Given the description of an element on the screen output the (x, y) to click on. 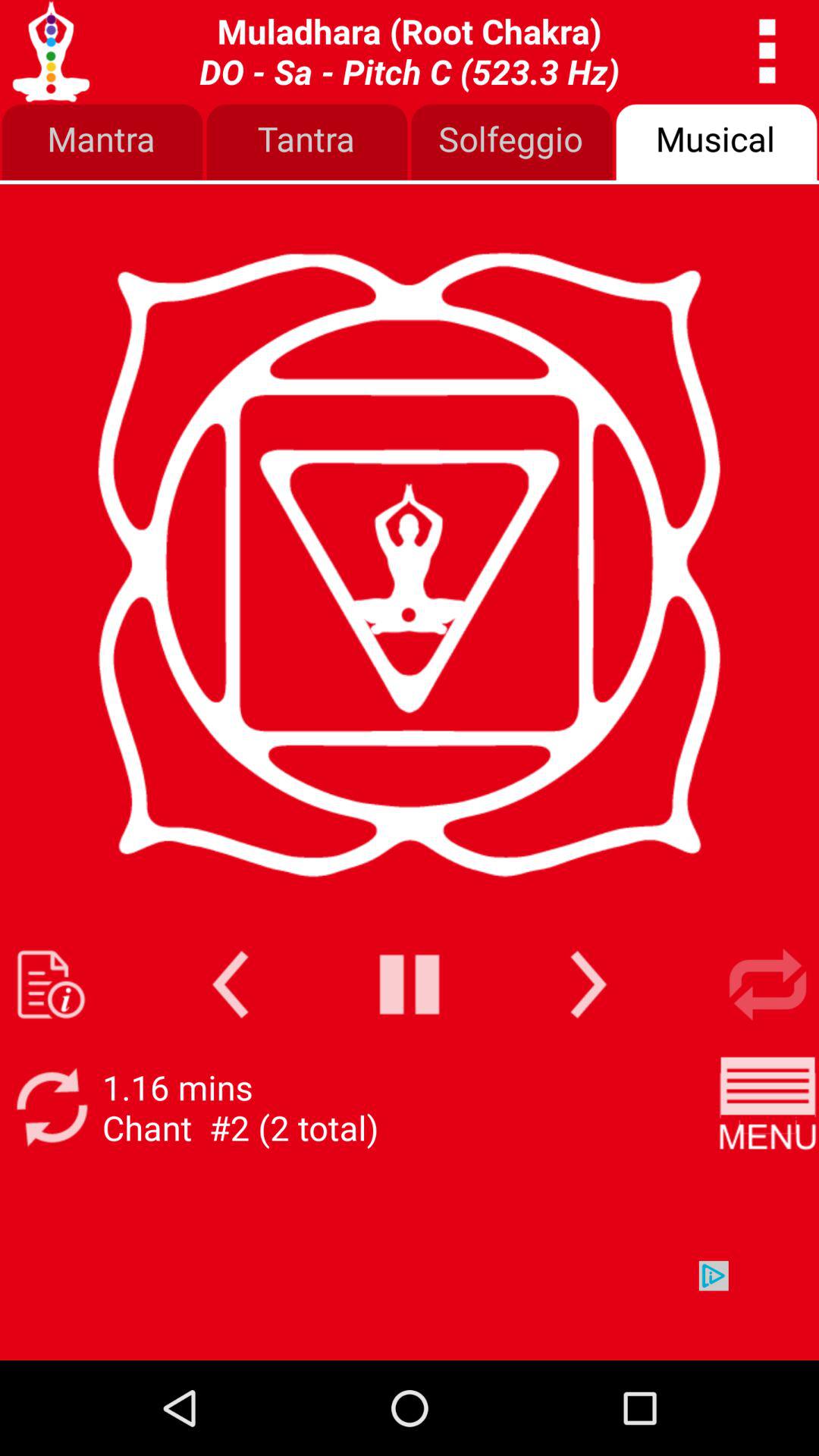
go back one track (230, 984)
